Given the description of an element on the screen output the (x, y) to click on. 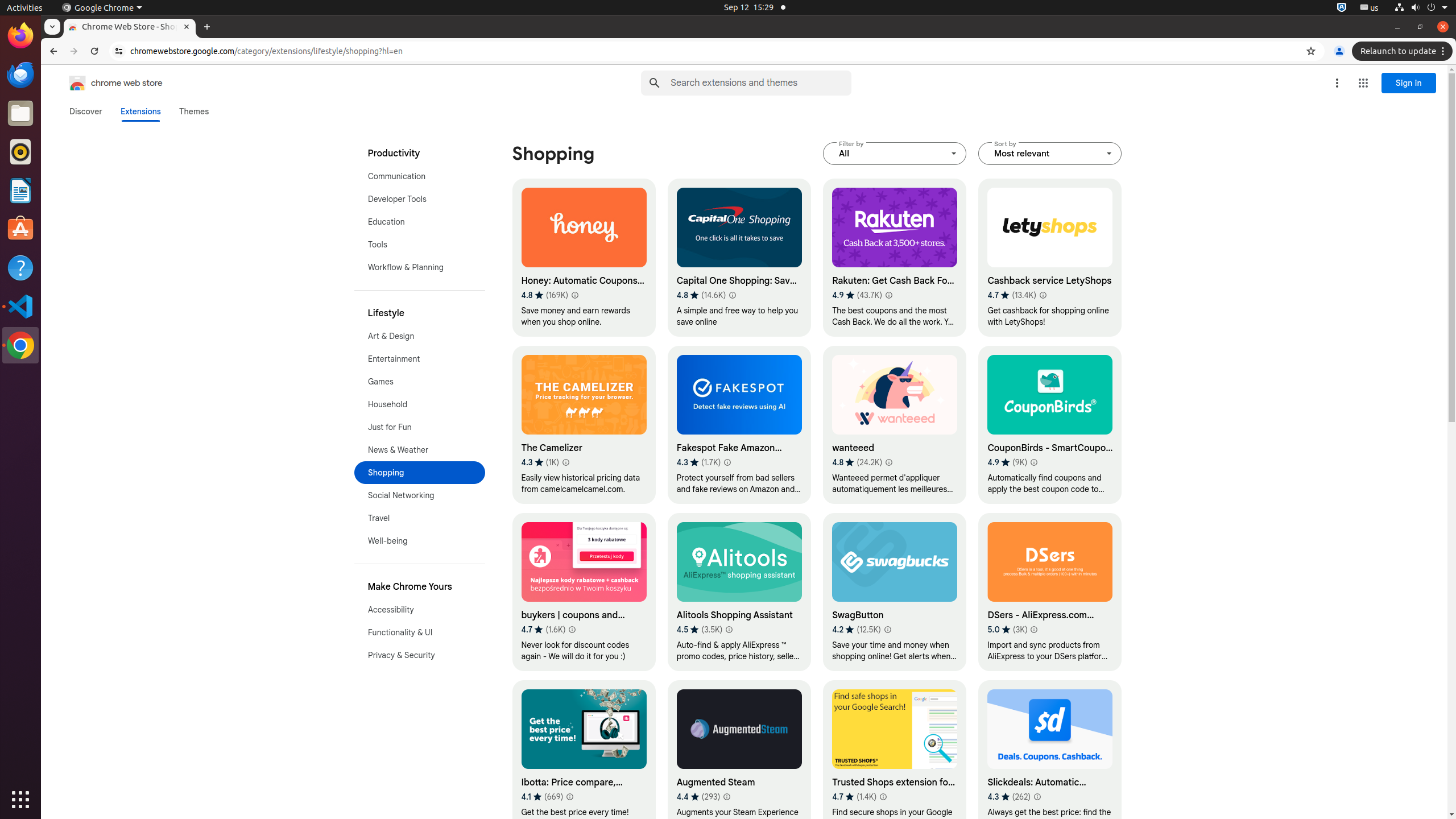
Workflow & Planning Element type: menu-item (419, 266)
Sort by ​Most relevant Element type: combo-box (1050, 153)
Rakuten: Get Cash Back For Shopping Element type: link (894, 257)
Filter by ​All Element type: combo-box (894, 153)
Developer Tools Element type: menu-item (419, 198)
